Given the description of an element on the screen output the (x, y) to click on. 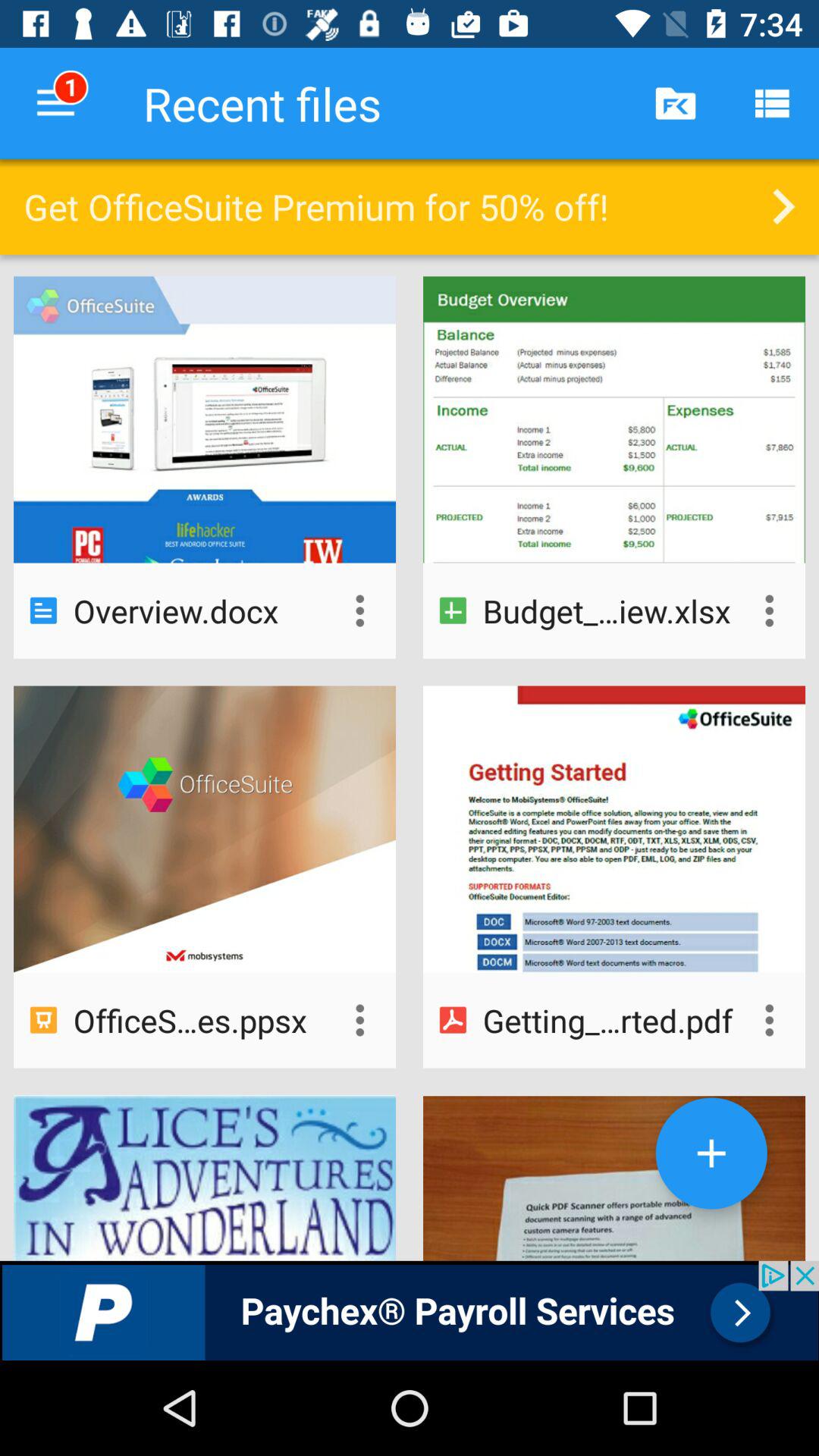
adding button (711, 1153)
